Given the description of an element on the screen output the (x, y) to click on. 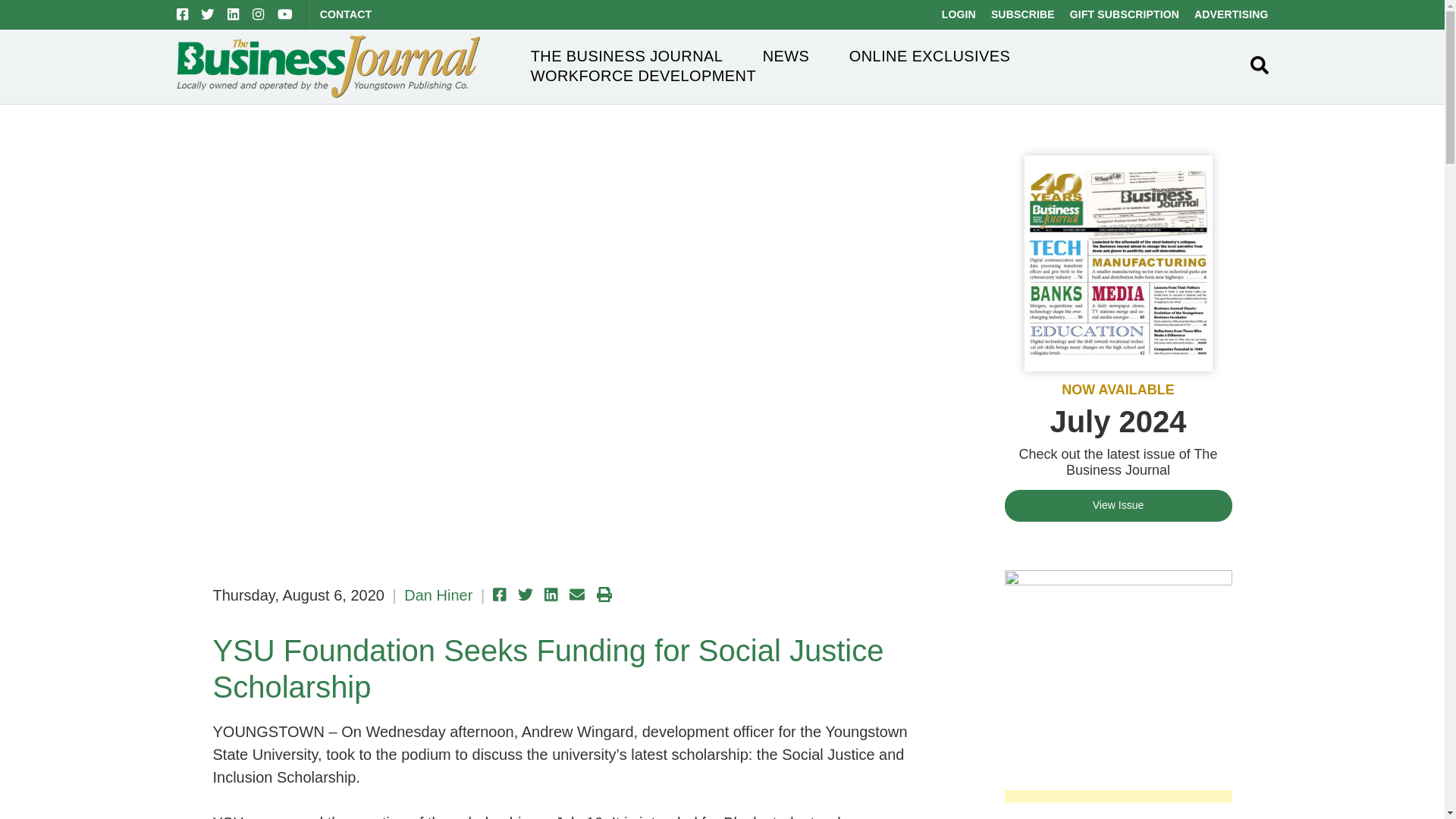
YouTube (285, 13)
LOGIN (958, 14)
CONTACT (346, 14)
YOUTUBE (285, 14)
SUBSCRIBE (1022, 14)
Twitter (207, 13)
TWITTER (207, 14)
NEWS (785, 55)
Share on print (603, 594)
Share on email (577, 594)
Share on Twitter (525, 594)
Share on Twitter (525, 594)
Share on email (577, 594)
ADVERTISING (1230, 14)
THE BUSINESS JOURNAL (627, 55)
